Given the description of an element on the screen output the (x, y) to click on. 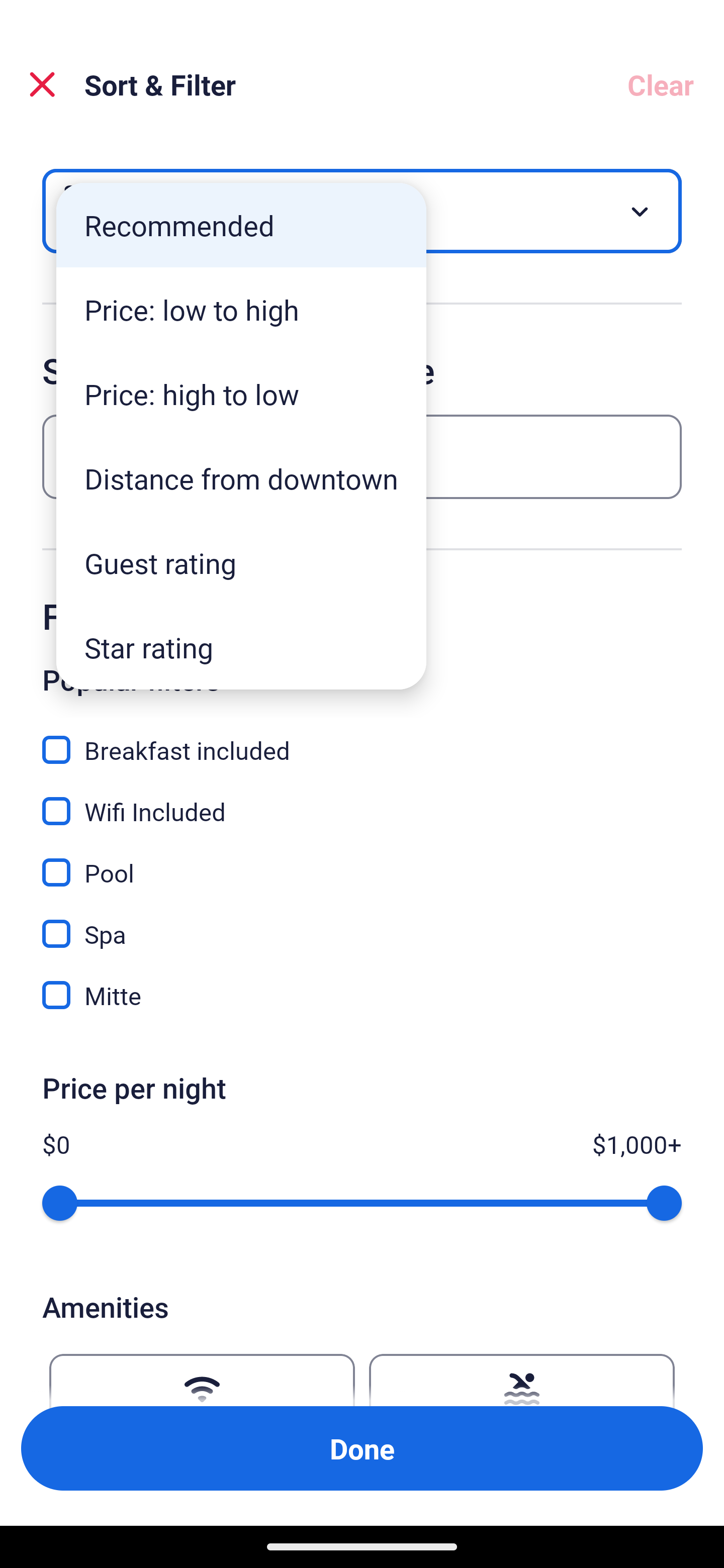
Price: low to high (241, 309)
Price: high to low (241, 393)
Distance from downtown (241, 477)
Guest rating (241, 562)
Star rating (241, 647)
